Given the description of an element on the screen output the (x, y) to click on. 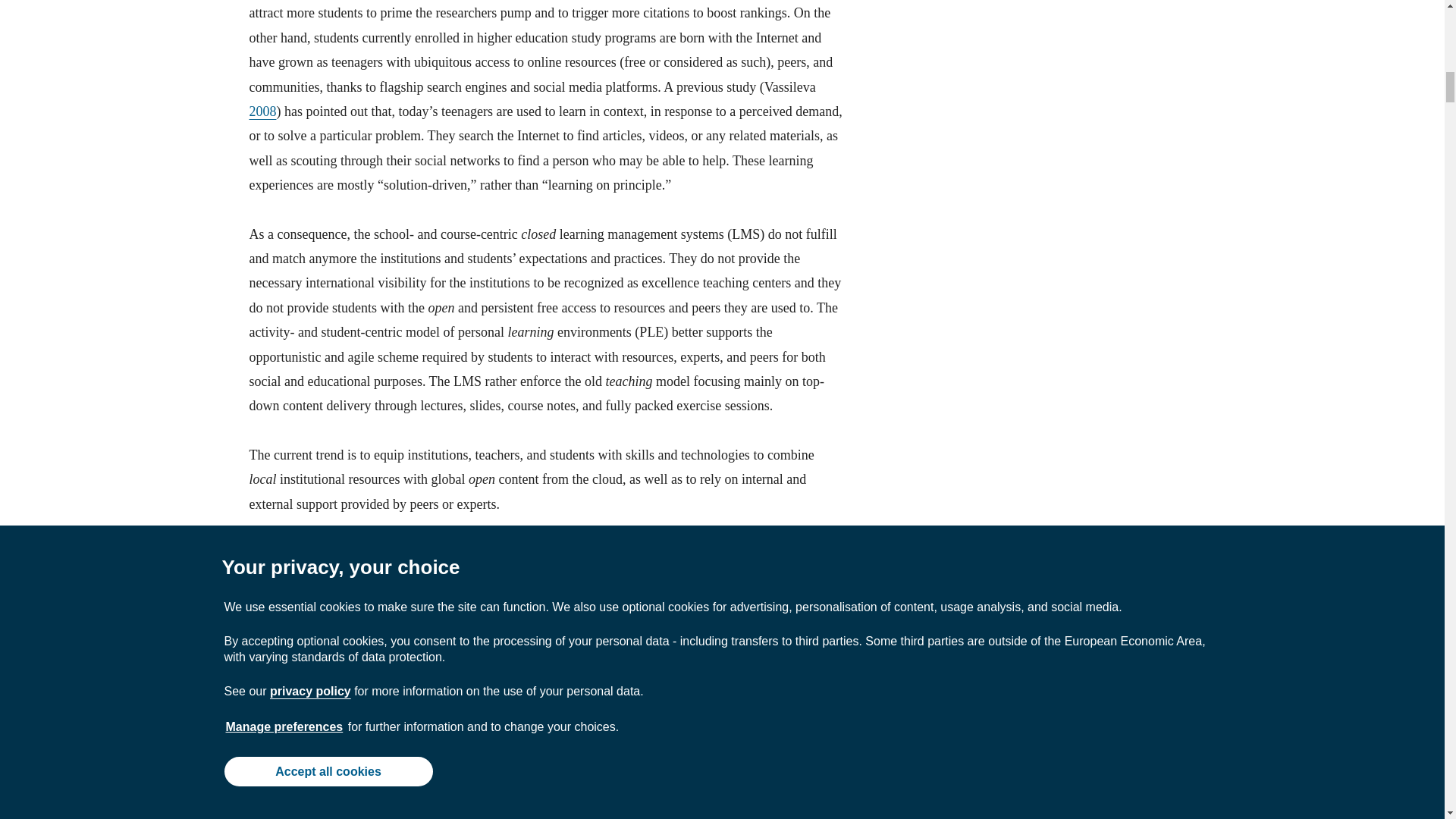
2008 (262, 111)
2010 (575, 626)
